Given the description of an element on the screen output the (x, y) to click on. 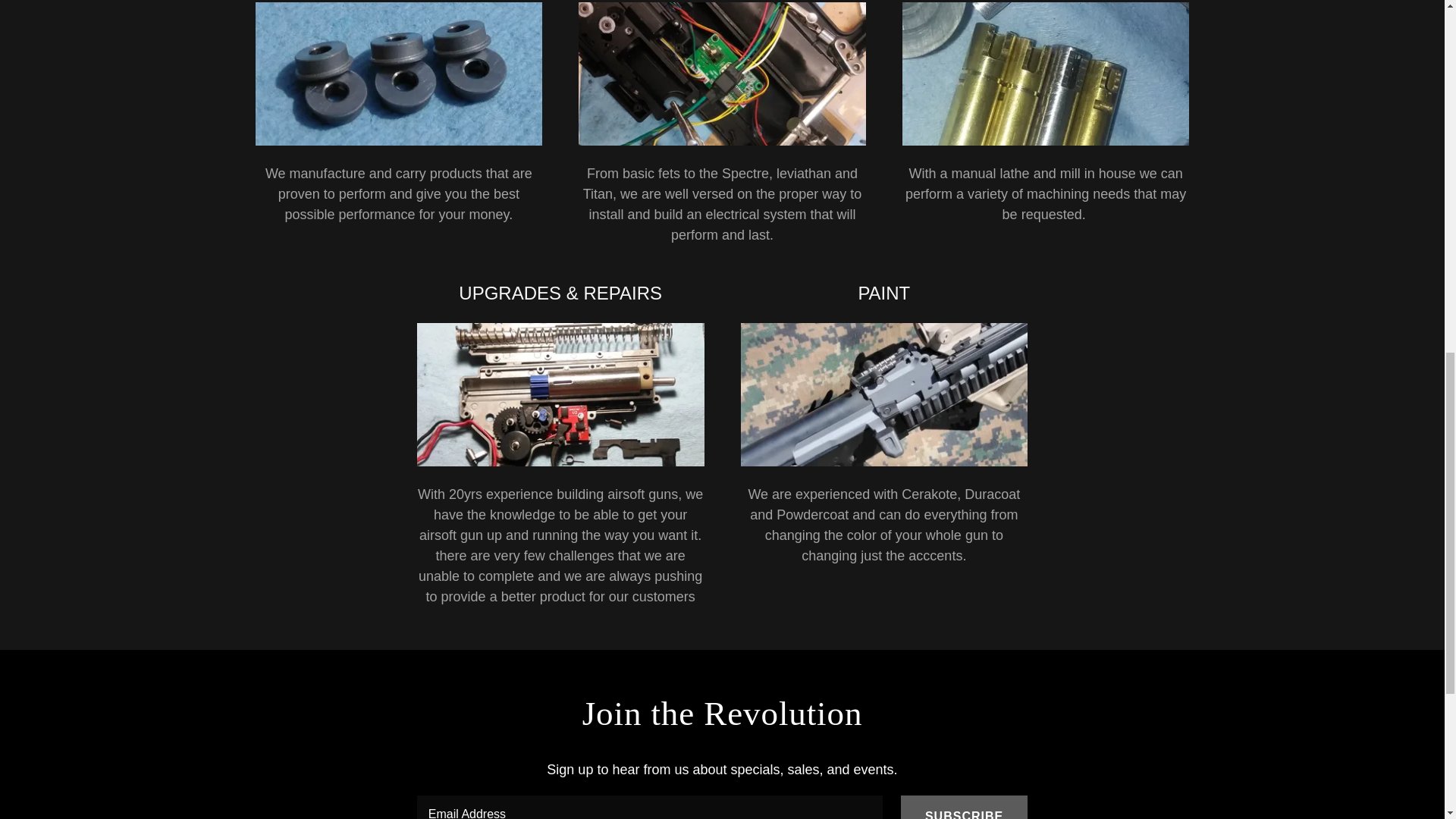
SUBSCRIBE (964, 806)
